Given the description of an element on the screen output the (x, y) to click on. 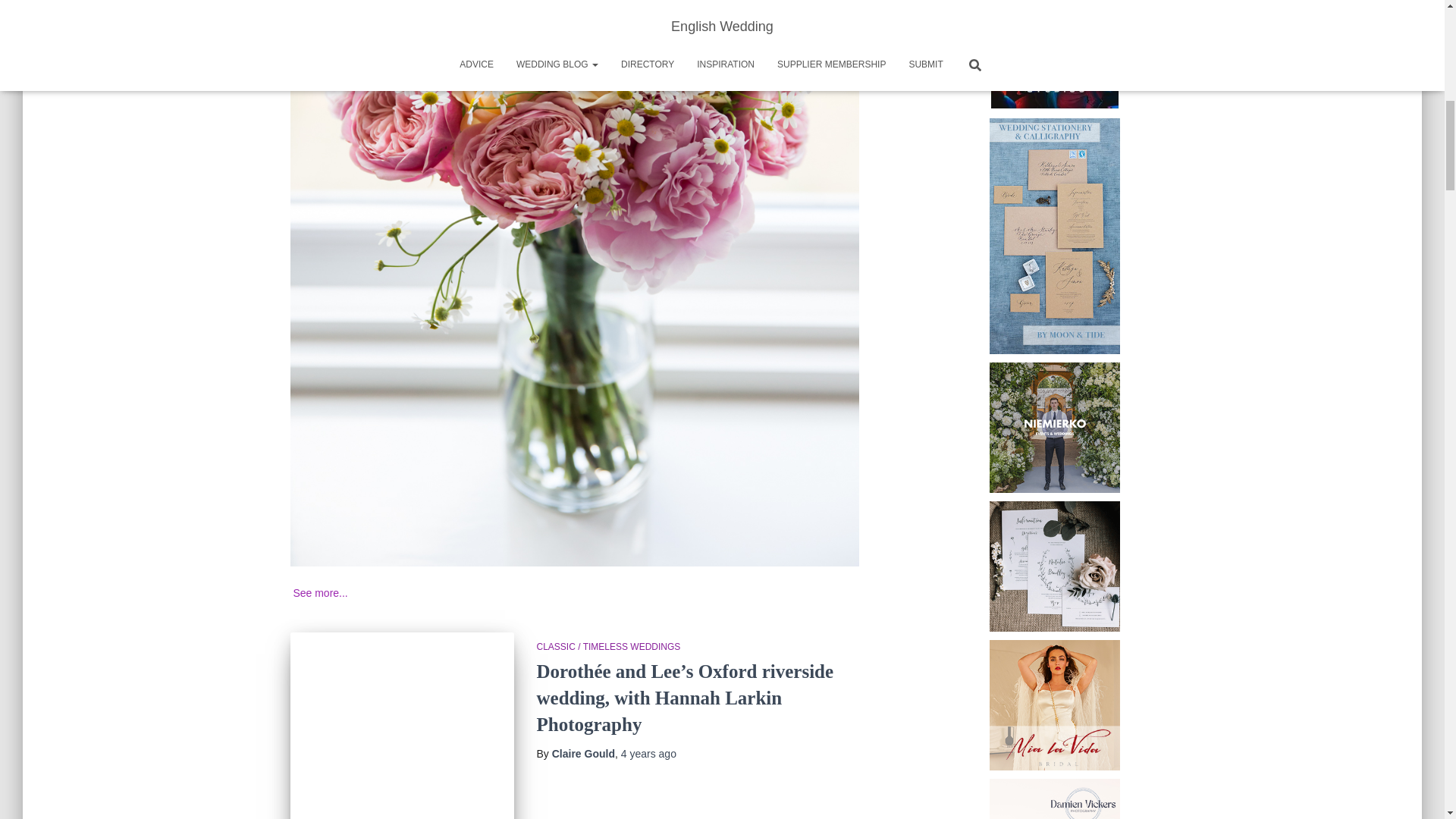
Claire Gould (582, 753)
4 years ago (649, 753)
See more... (319, 592)
